Given the description of an element on the screen output the (x, y) to click on. 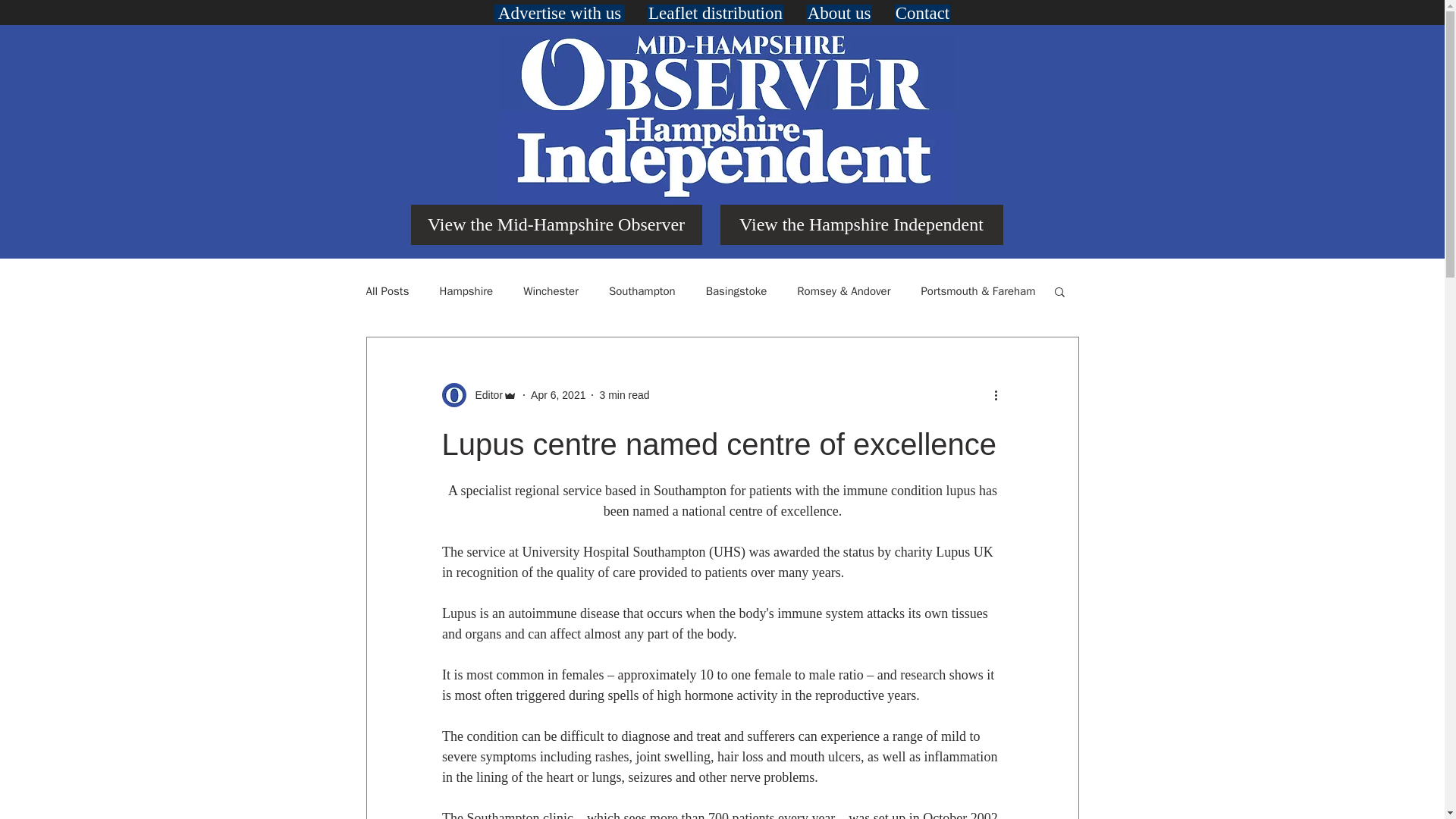
Hampshire (466, 290)
View the Hampshire Independent (861, 224)
About us (839, 13)
Basingstoke (736, 290)
Editor (483, 394)
Winchester (550, 290)
Southampton (641, 290)
Leaflet distribution (715, 13)
All Posts (387, 290)
View the Mid-Hampshire Observer (555, 224)
